Given the description of an element on the screen output the (x, y) to click on. 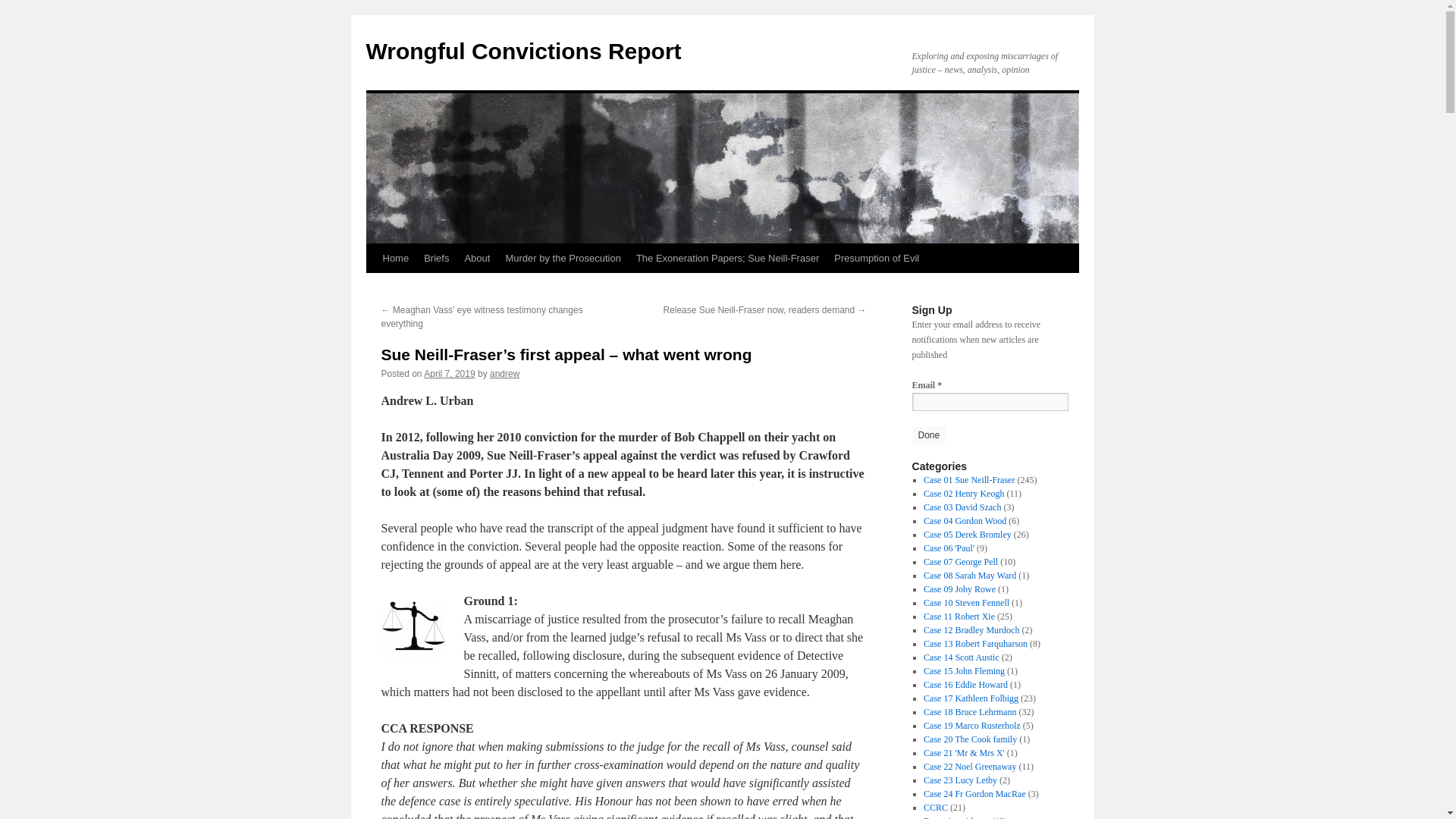
Presumption of Evil (876, 258)
andrew (504, 373)
Home (395, 258)
Wrongful Convictions Report (523, 50)
Briefs (436, 258)
April 7, 2019 (448, 373)
The Exoneration Papers; Sue Neill-Fraser (727, 258)
3:06 pm (448, 373)
Email (989, 402)
Murder by the Prosecution (562, 258)
About (477, 258)
View all posts by andrew (504, 373)
Done (927, 434)
